Given the description of an element on the screen output the (x, y) to click on. 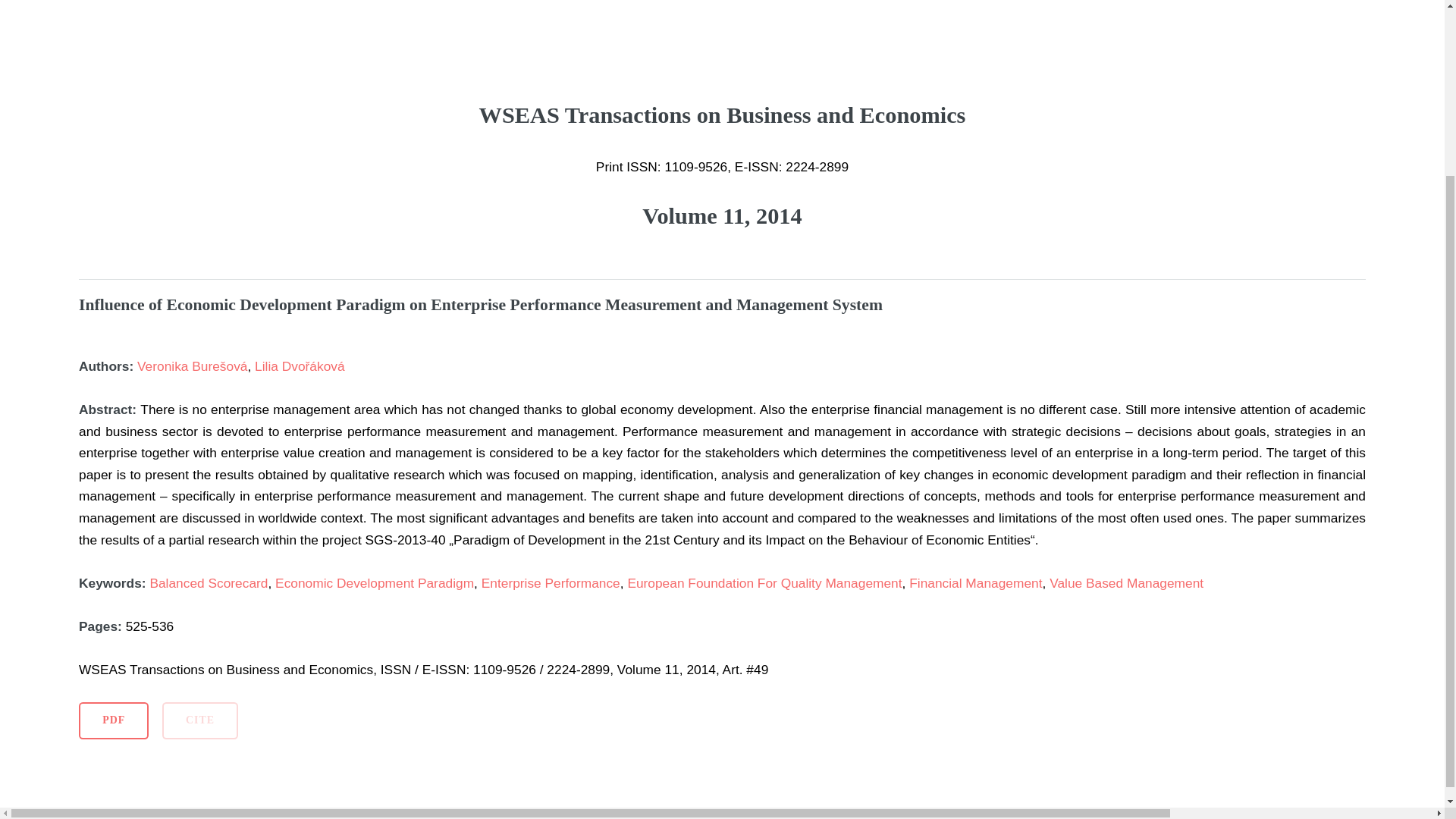
European Foundation For Quality Management (764, 582)
PDF (113, 720)
Volume 11, 2014 (722, 216)
Value Based Management (1126, 582)
Enterprise Performance (550, 582)
Financial Management (975, 582)
Economic Development Paradigm (374, 582)
Balanced Scorecard (208, 582)
WSEAS Transactions on Business and Economics (721, 136)
